Given the description of an element on the screen output the (x, y) to click on. 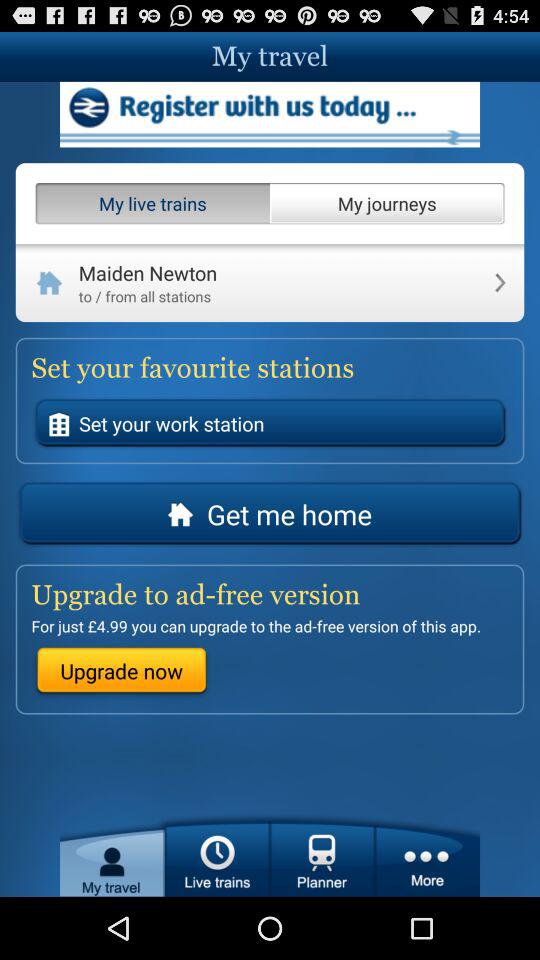
address page (270, 114)
